Given the description of an element on the screen output the (x, y) to click on. 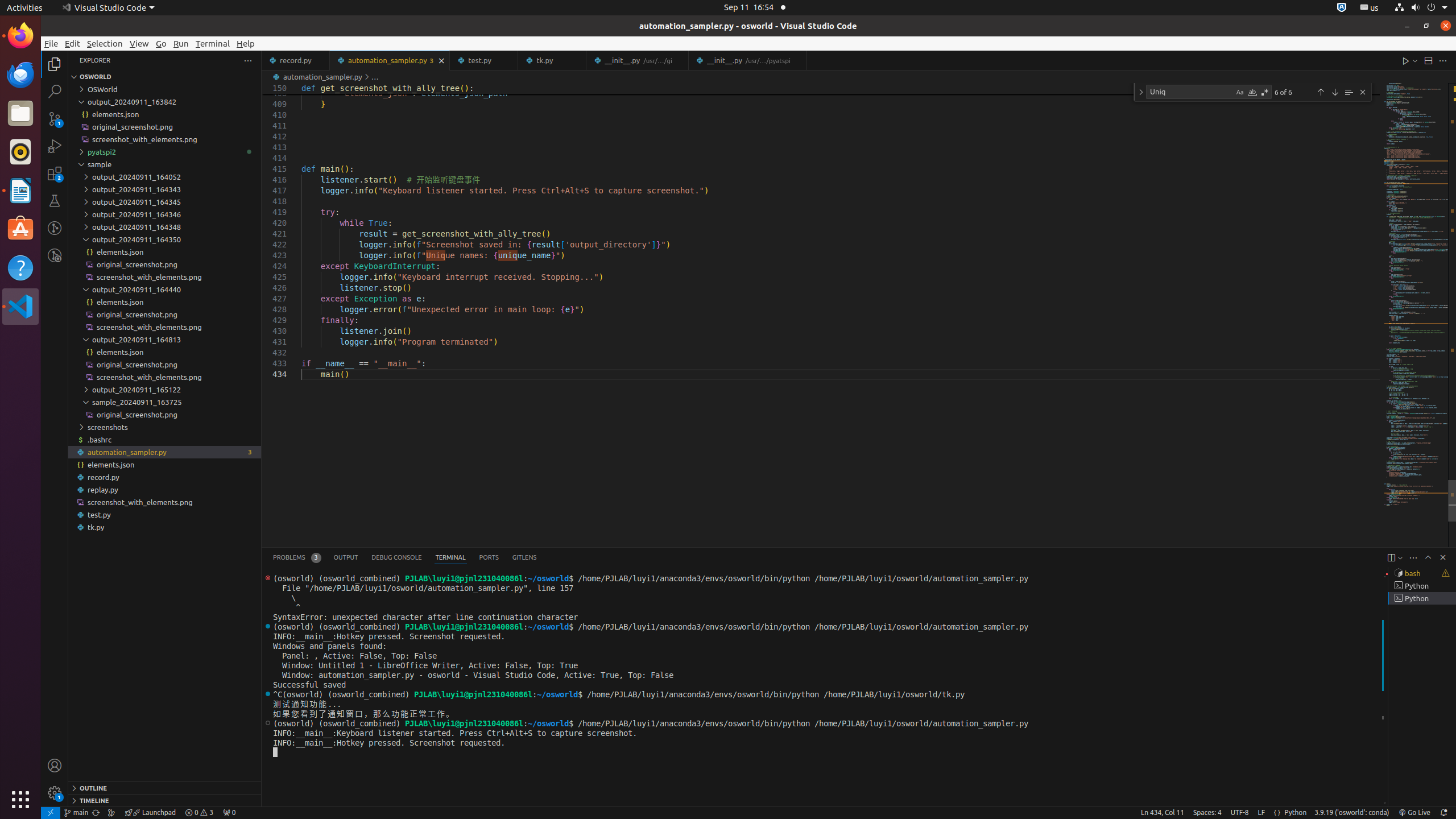
Match Whole Word (Alt+W) Element type: check-box (1252, 91)
GitLens Inspect Element type: page-tab (54, 255)
LF Element type: push-button (1261, 812)
Terminal 5 Python Element type: list-item (1422, 598)
Selection Element type: push-button (104, 43)
